Given the description of an element on the screen output the (x, y) to click on. 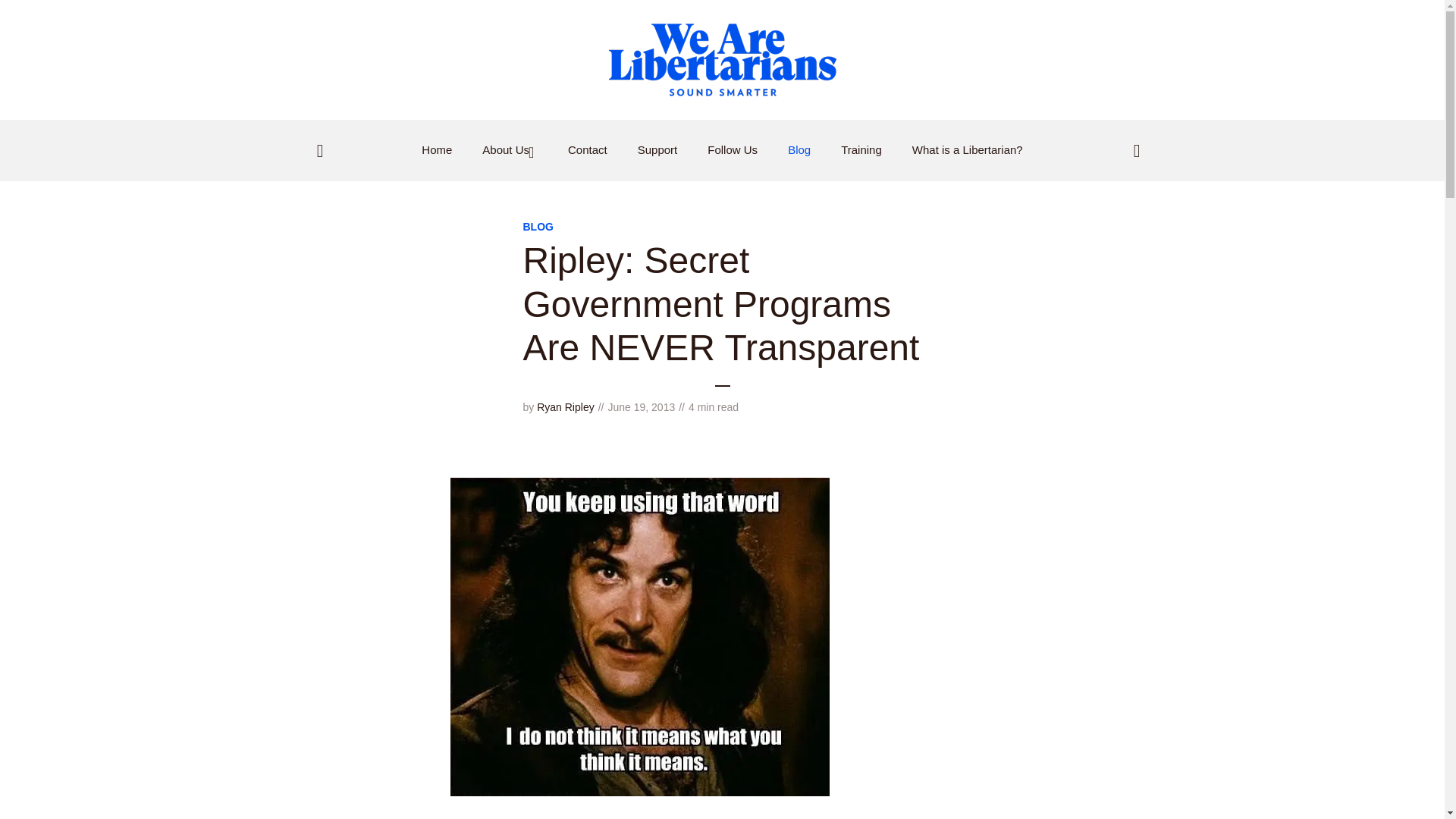
BLOG (537, 226)
What is a Libertarian? (967, 150)
Ryan Ripley (565, 407)
Follow Us (732, 150)
About Us (509, 150)
Support (657, 150)
Training (861, 150)
Contact (587, 150)
